Given the description of an element on the screen output the (x, y) to click on. 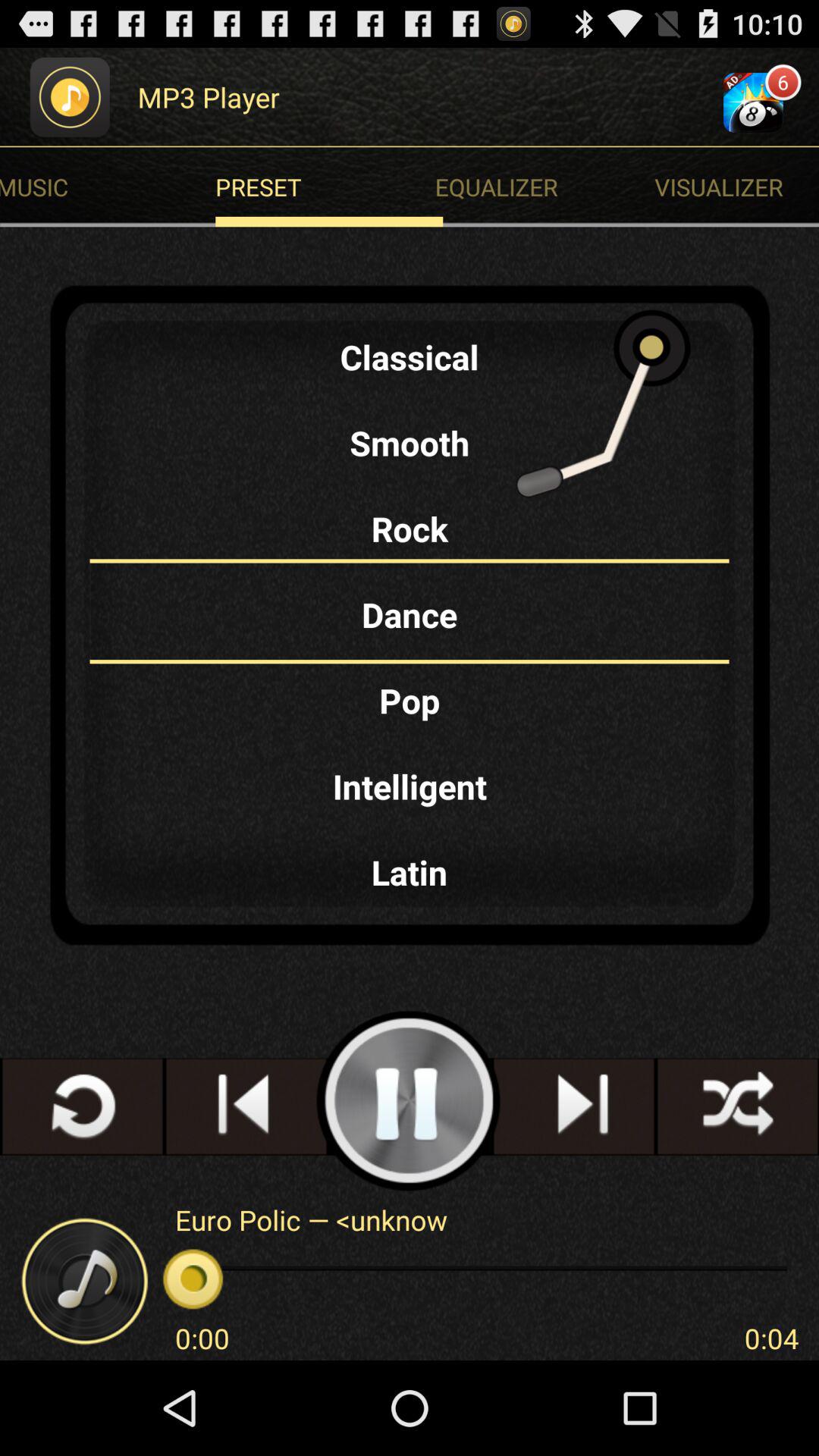
click preset icon (329, 186)
